Given the description of an element on the screen output the (x, y) to click on. 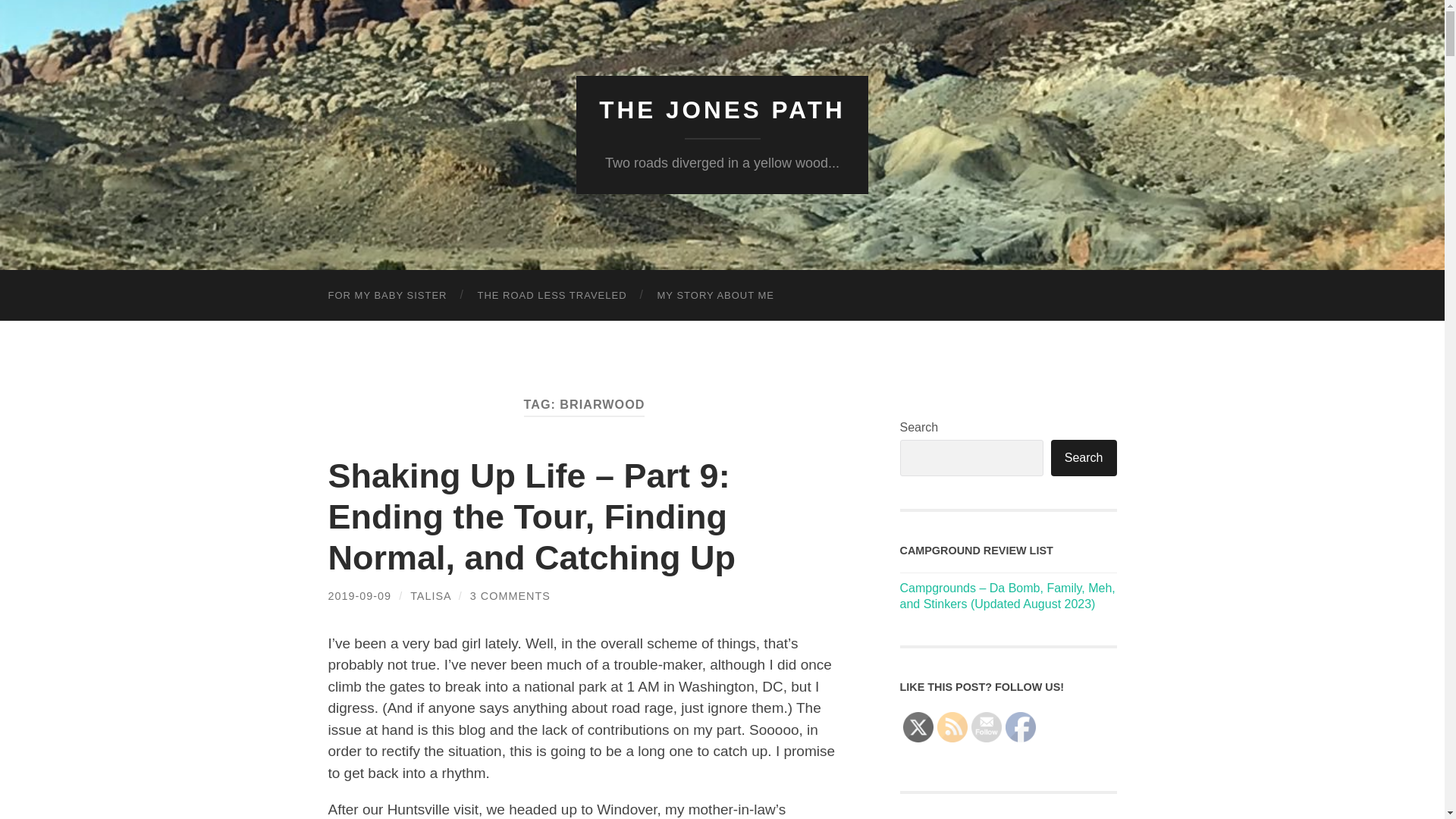
RSS (952, 726)
3 COMMENTS (510, 595)
Search (1083, 457)
Posts by Talisa (430, 595)
Facebook (1020, 726)
TALISA (430, 595)
MY STORY ABOUT ME (716, 295)
THE ROAD LESS TRAVELED (551, 295)
Follow by Email (986, 726)
FOR MY BABY SISTER (387, 295)
2019-09-09 (359, 595)
Twitter (917, 726)
THE JONES PATH (721, 109)
